Given the description of an element on the screen output the (x, y) to click on. 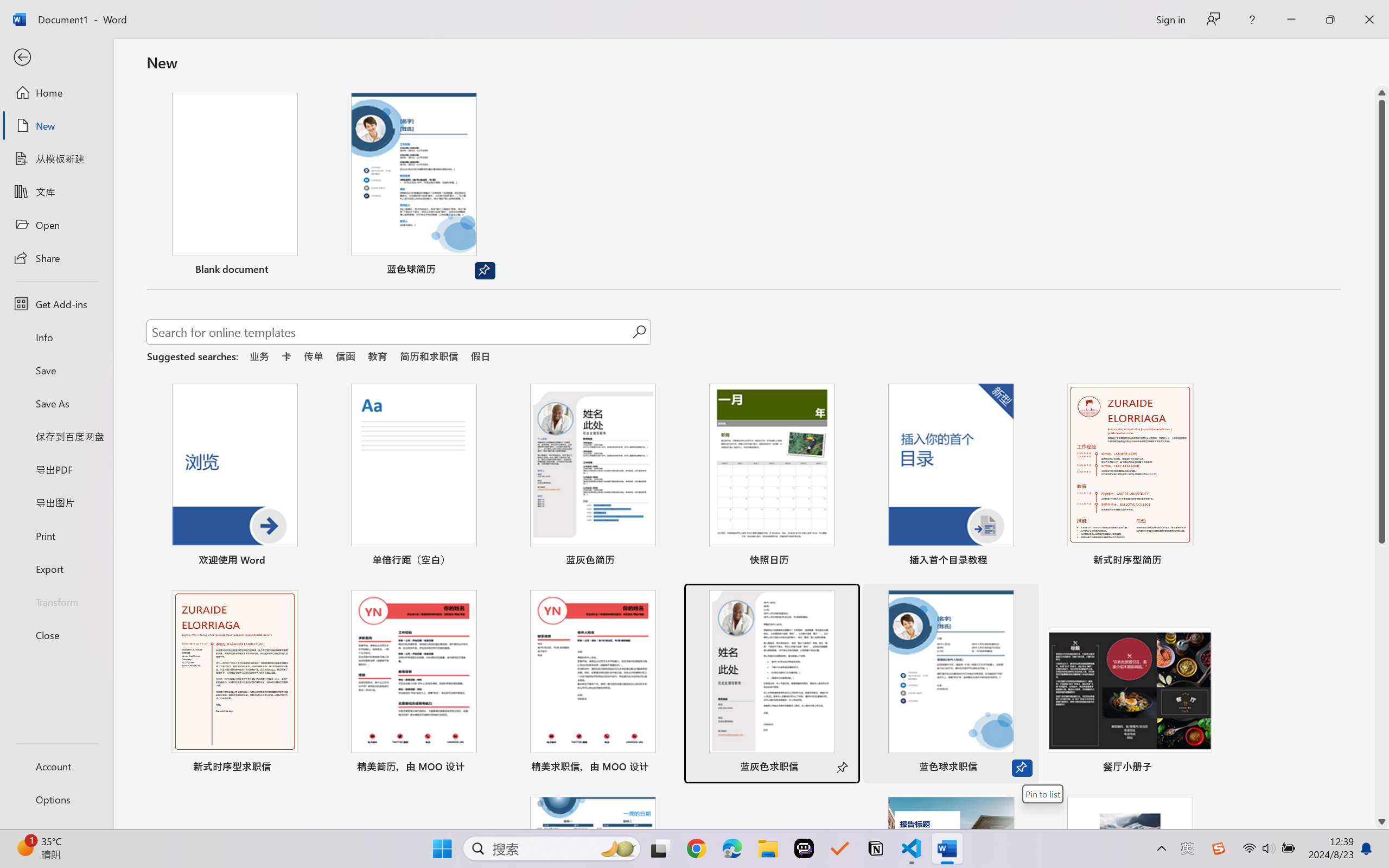
Print (56, 535)
Pin to list (1200, 767)
Page down (1382, 679)
Back (56, 57)
